Given the description of an element on the screen output the (x, y) to click on. 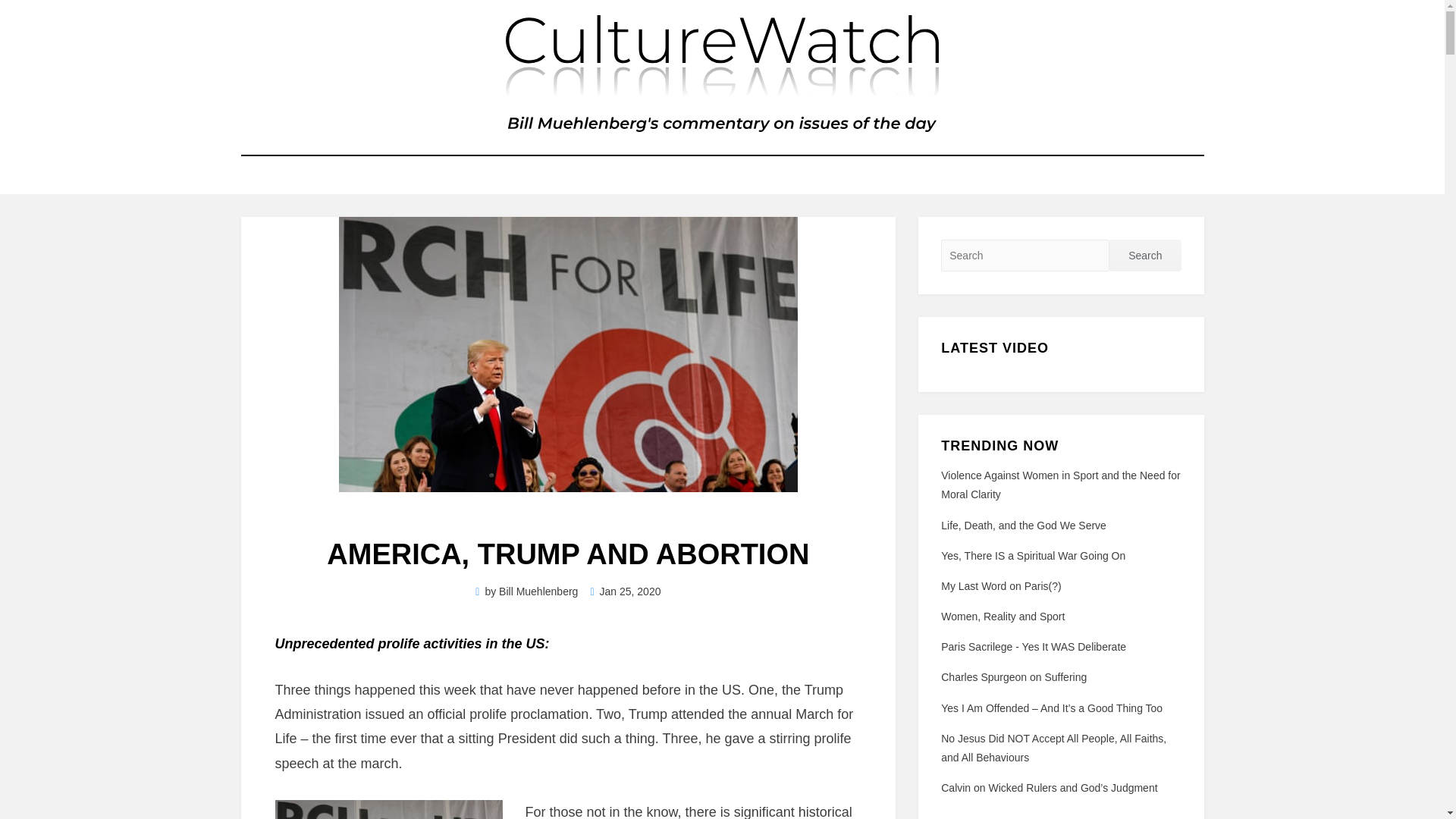
Jan 25, 2020 (625, 591)
Bill Muehlenberg (538, 591)
